Given the description of an element on the screen output the (x, y) to click on. 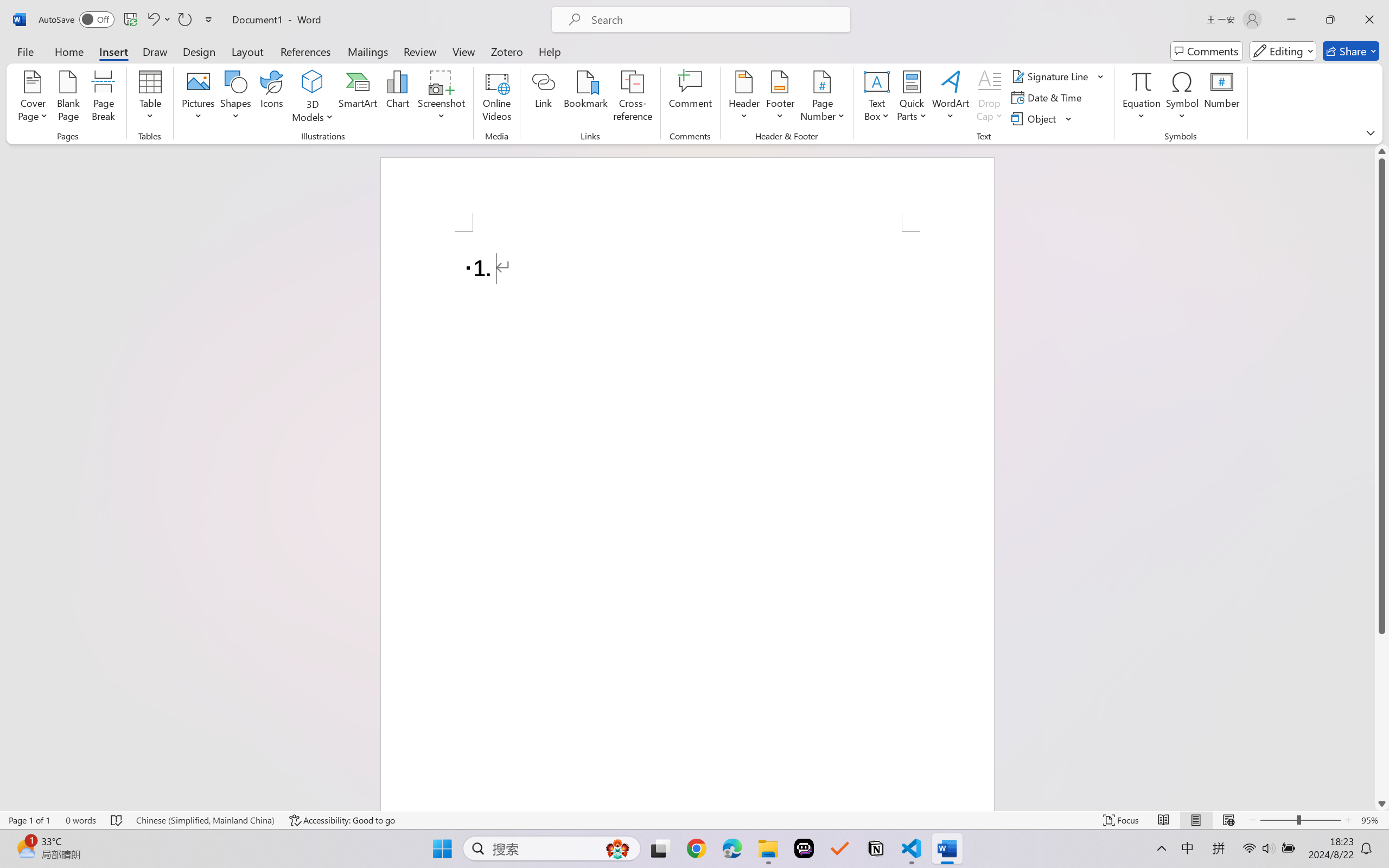
SmartArt... (358, 97)
Online Videos... (496, 97)
Footer (780, 97)
Chart... (396, 97)
Date & Time... (1048, 97)
Blank Page (67, 97)
Signature Line (1058, 75)
